Given the description of an element on the screen output the (x, y) to click on. 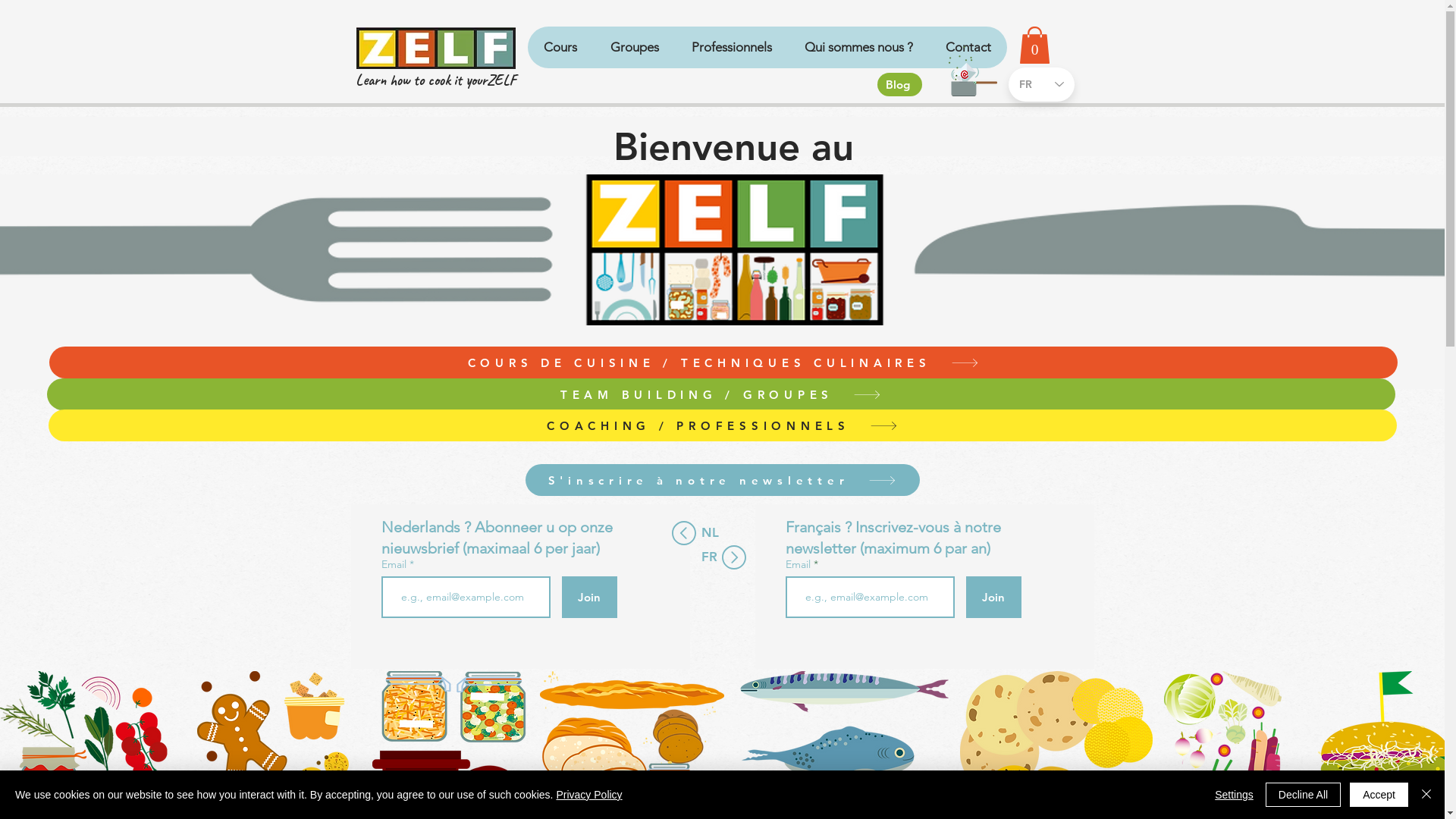
Decline All Element type: text (1302, 794)
Blog Element type: text (898, 84)
COACHING / PROFESSIONNELS Element type: text (722, 425)
blanc.jpg Element type: hover (435, 48)
0 Element type: text (1034, 44)
Accept Element type: text (1378, 794)
Groupes Element type: text (633, 47)
COURS DE CUISINE / TECHNIQUES CULINAIRES Element type: text (722, 362)
Privacy Policy Element type: text (588, 794)
Qui sommes nous ? Element type: text (857, 47)
Join Element type: text (993, 597)
TEAM BUILDING / GROUPES Element type: text (721, 394)
Cours Element type: text (560, 47)
Join Element type: text (588, 597)
Professionnels Element type: text (730, 47)
Contact Element type: text (967, 47)
